Given the description of an element on the screen output the (x, y) to click on. 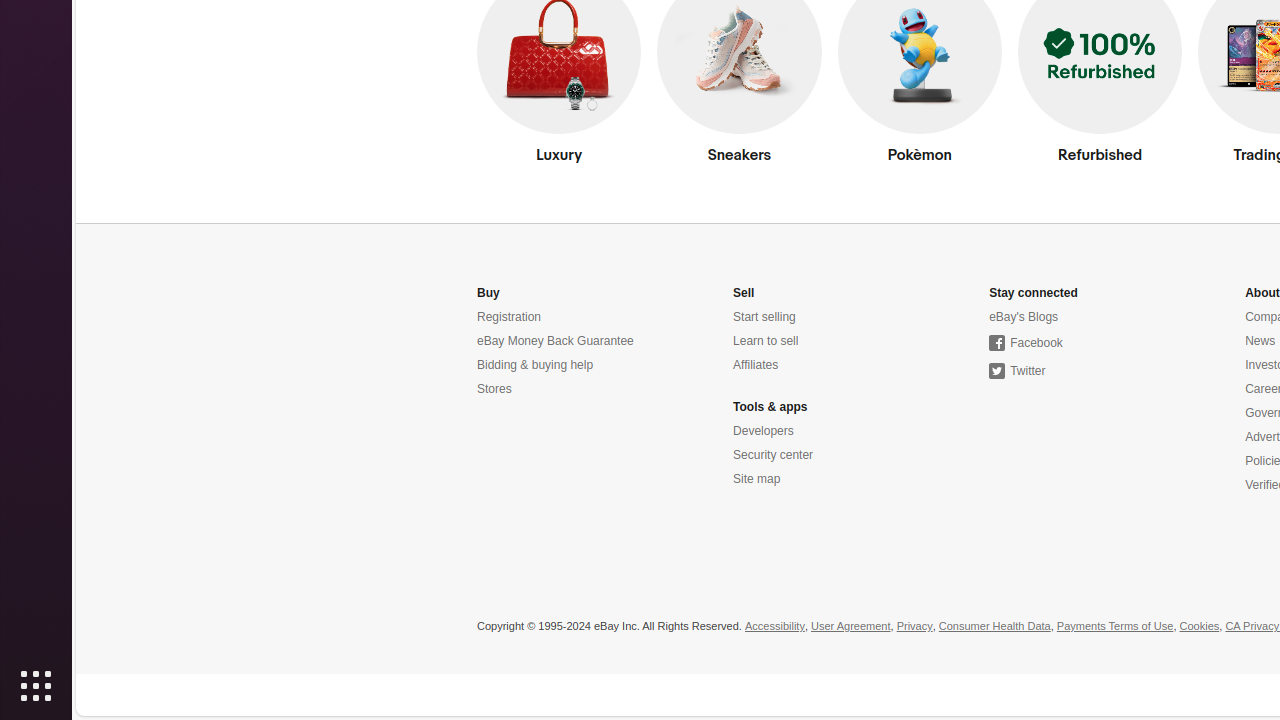
Affiliates Element type: link (756, 365)
Consumer Health Data Element type: link (994, 627)
eBay Money Back Guarantee Element type: link (555, 341)
Twitter Element type: link (1017, 371)
User Agreement Element type: link (851, 627)
